Given the description of an element on the screen output the (x, y) to click on. 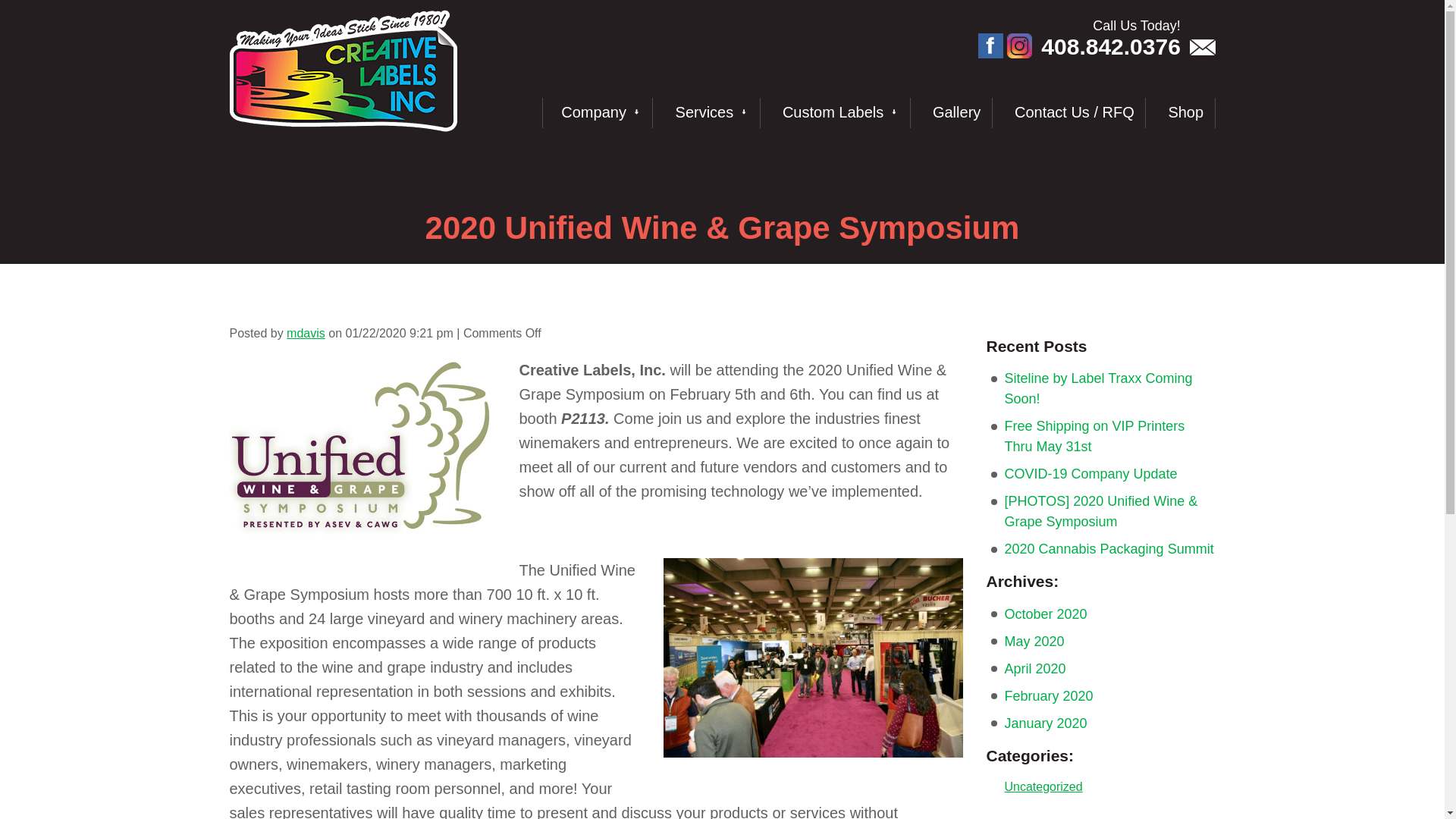
Facebook (990, 45)
408.842.0376 (1110, 46)
Email (1201, 47)
Company (596, 112)
Creative Labels Inc. (342, 70)
Services (708, 112)
Custom Labels (836, 112)
